Given the description of an element on the screen output the (x, y) to click on. 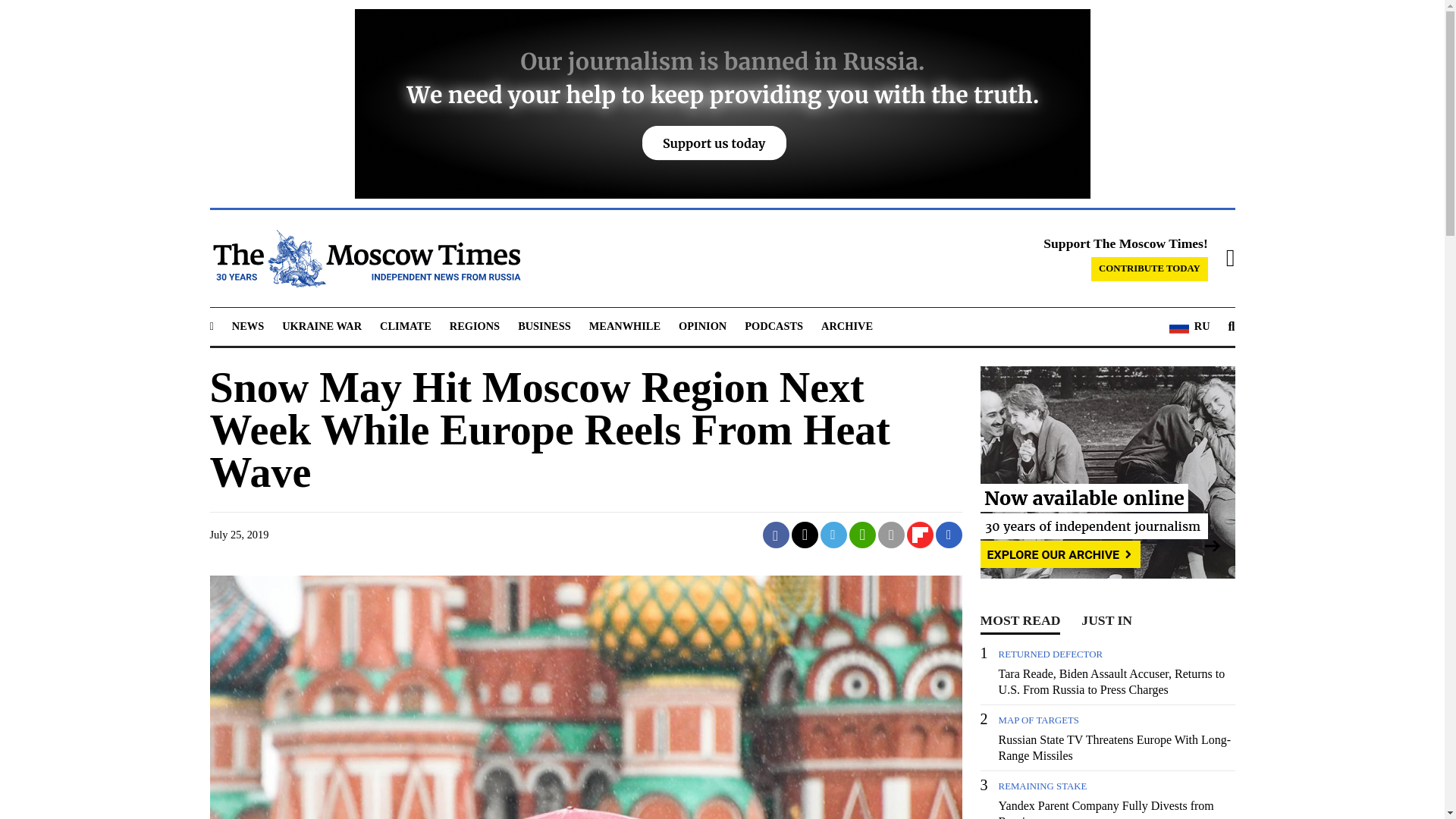
Share on Flipboard (920, 534)
MEANWHILE (625, 326)
RU (1189, 326)
The Moscow Times - Independent News from Russia (364, 258)
CLIMATE (405, 326)
BUSINESS (544, 326)
Share on Twitter (805, 534)
PODCASTS (773, 326)
REGIONS (474, 326)
Share on Telegram (834, 534)
OPINION (702, 326)
CONTRIBUTE TODAY (1149, 269)
UKRAINE WAR (321, 326)
ARCHIVE (846, 326)
NEWS (247, 326)
